Given the description of an element on the screen output the (x, y) to click on. 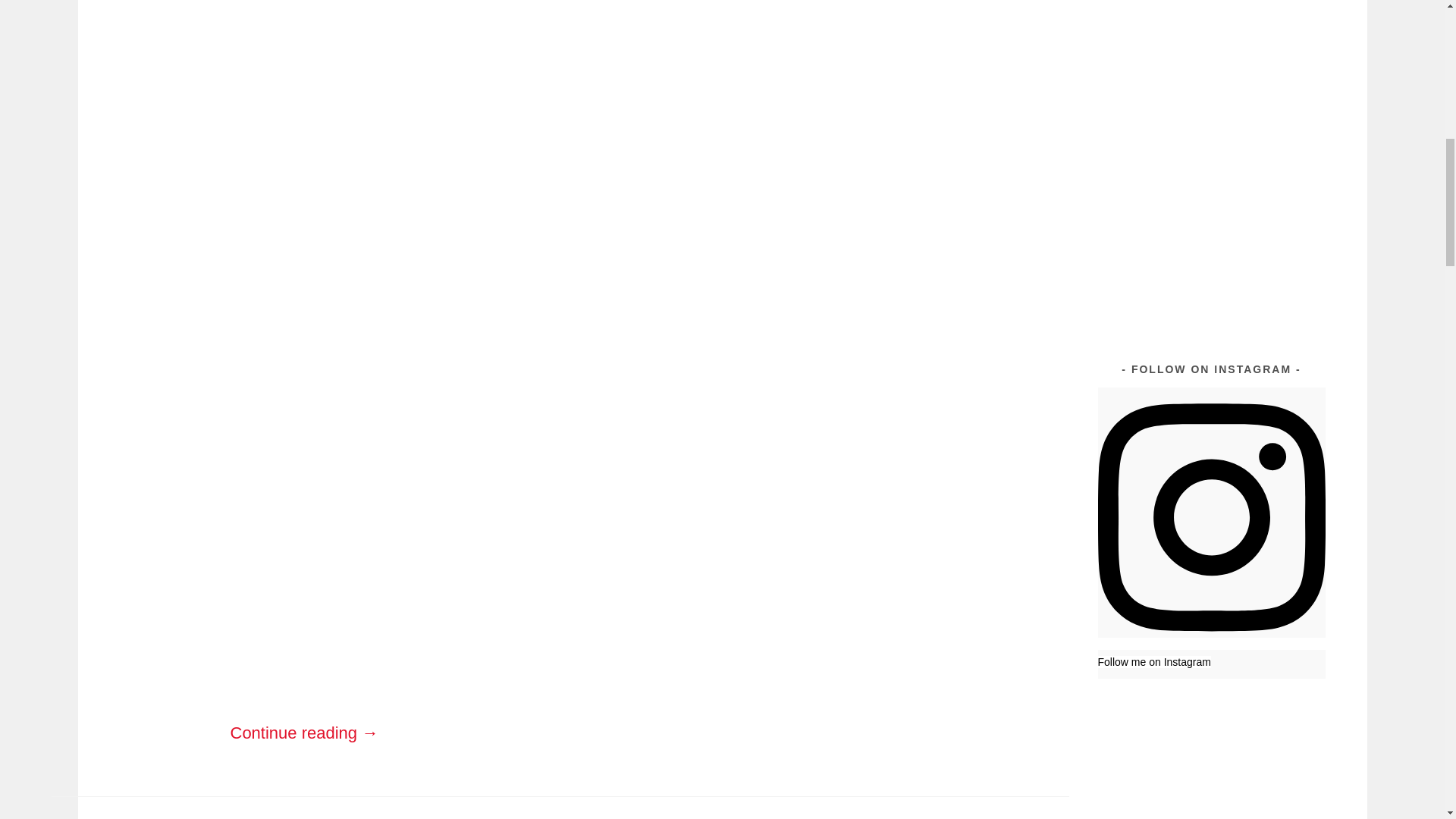
Sew Pajama Pants from Vintage Sheets (1268, 30)
Southwest Salad with 2-Ingredient Southwest Ranch Dressing (1267, 111)
